Given the description of an element on the screen output the (x, y) to click on. 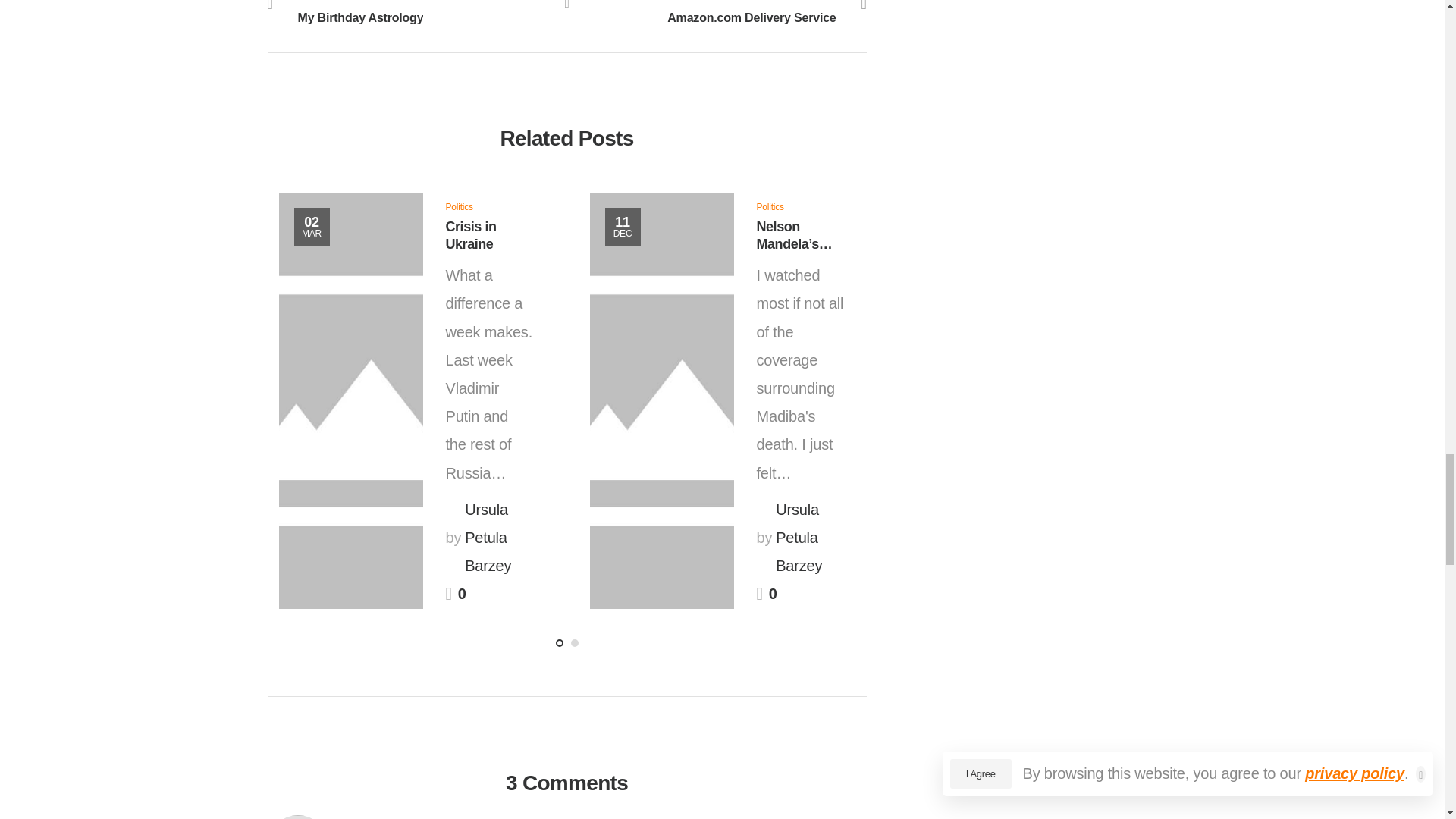
Politics (312, 226)
Politics (716, 14)
Crisis in Ukraine (770, 206)
All Posts (416, 14)
